Given the description of an element on the screen output the (x, y) to click on. 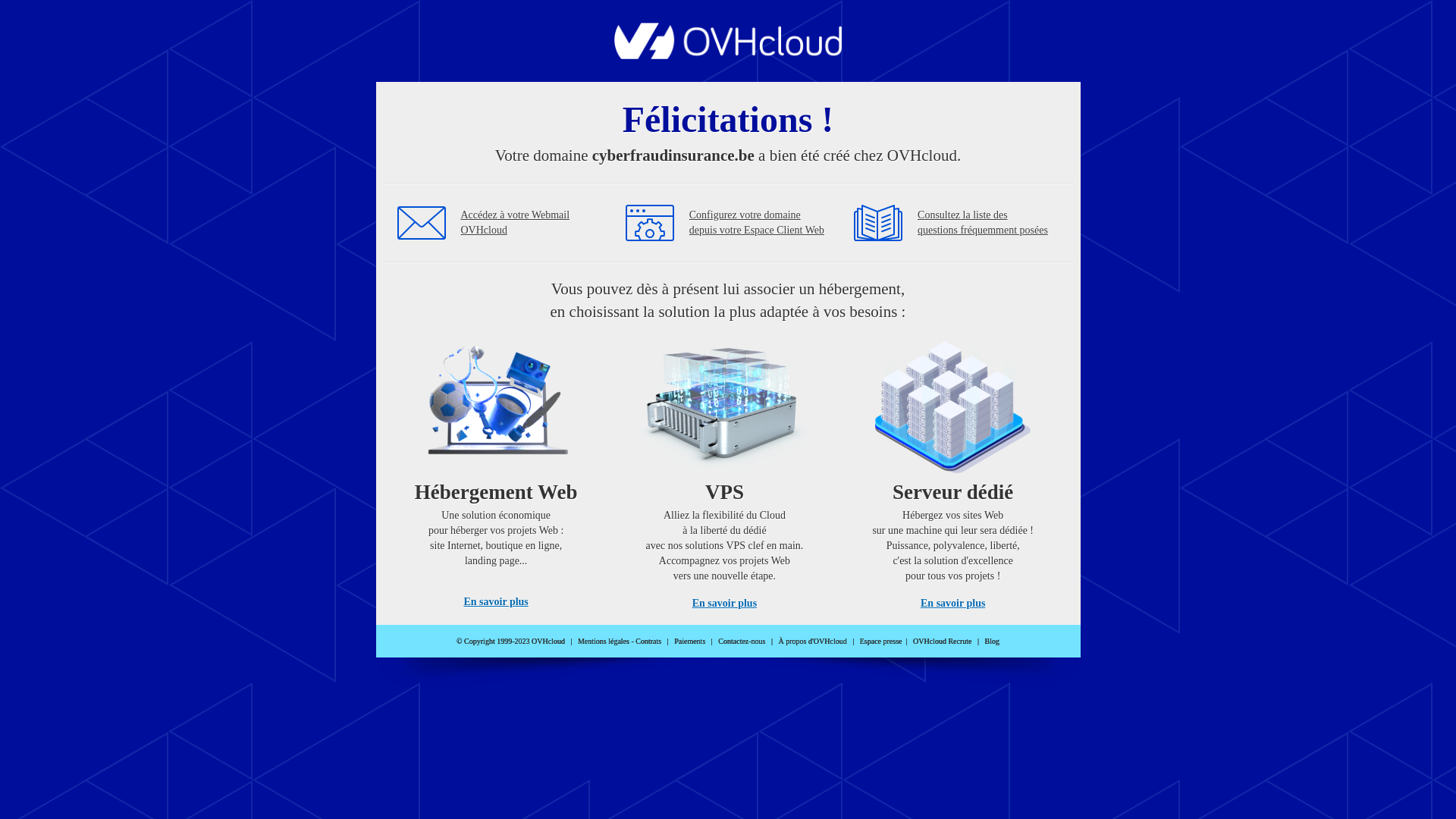
En savoir plus Element type: text (495, 601)
OVHcloud Recrute Element type: text (942, 641)
VPS Element type: hover (724, 469)
En savoir plus Element type: text (724, 602)
Blog Element type: text (992, 641)
Espace presse Element type: text (880, 641)
OVHcloud Element type: hover (727, 54)
Paiements Element type: text (689, 641)
En savoir plus Element type: text (952, 602)
Contactez-nous Element type: text (741, 641)
Configurez votre domaine
depuis votre Espace Client Web Element type: text (756, 222)
